Given the description of an element on the screen output the (x, y) to click on. 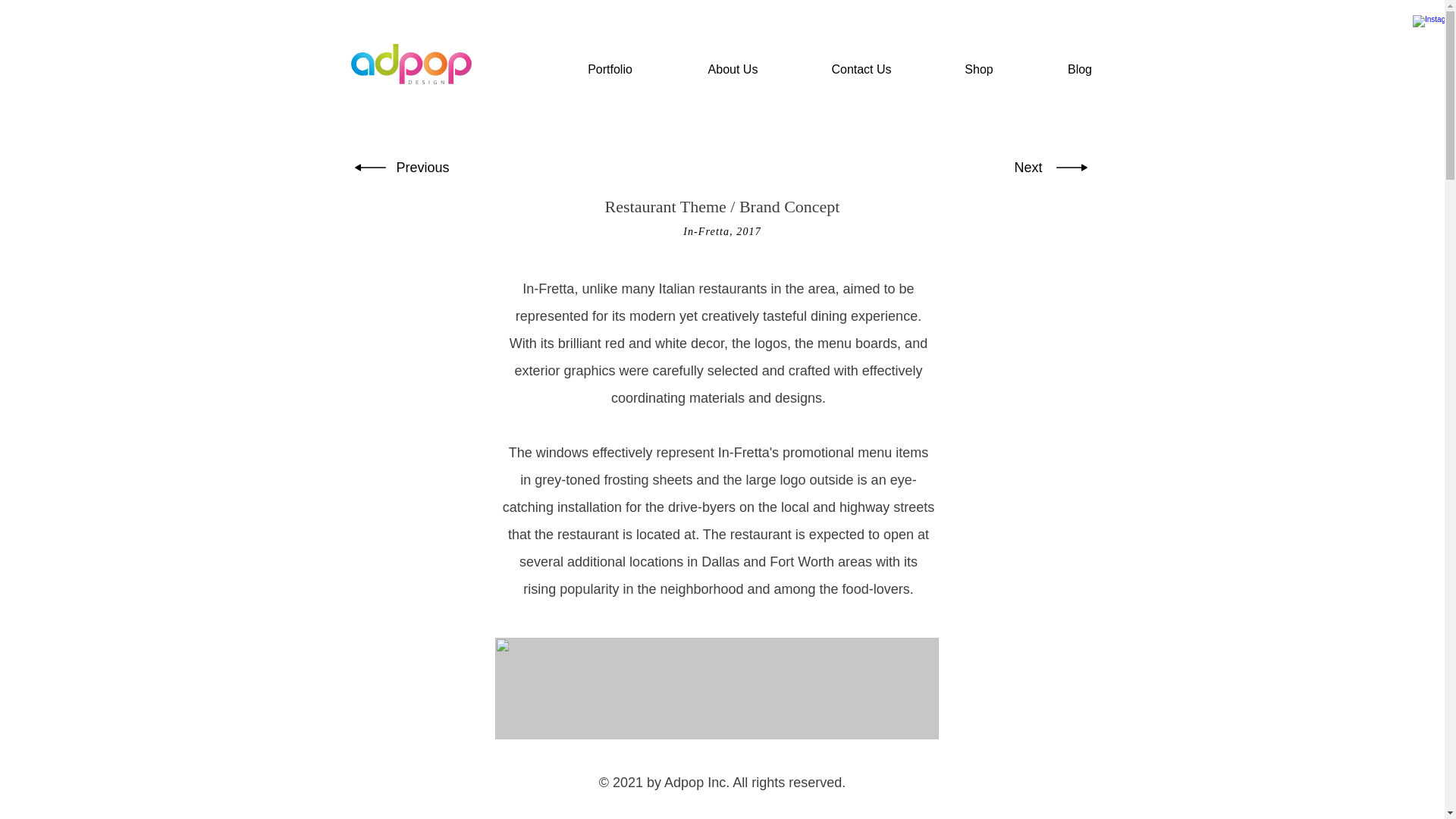
Previous (422, 167)
Next (1026, 167)
Portfolio (608, 69)
Blog (1079, 69)
Shop (979, 69)
Contact Us (860, 69)
About Us (731, 69)
